Given the description of an element on the screen output the (x, y) to click on. 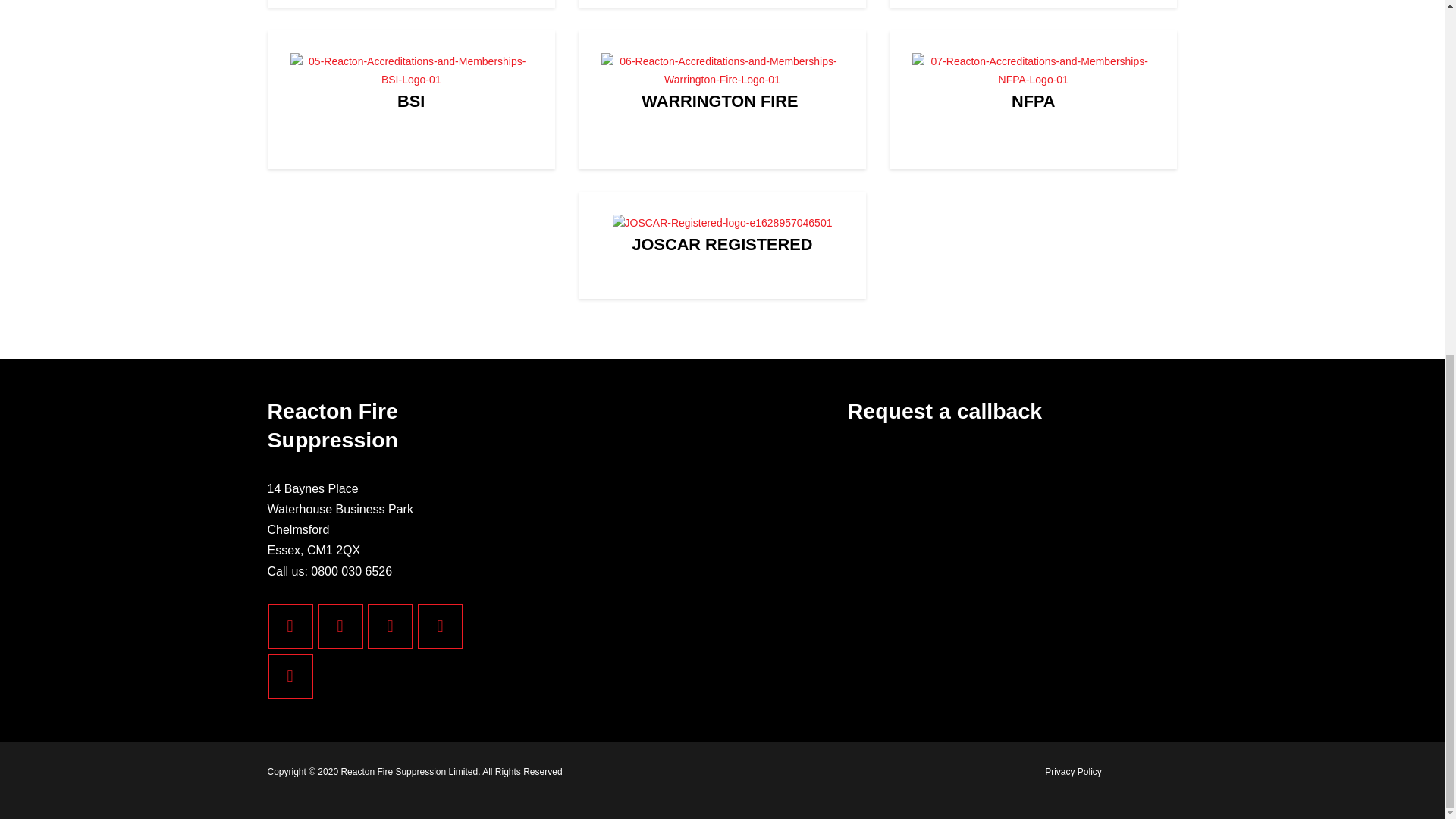
05-Reacton-Accreditations-and-Memberships-BSI-Logo-01 (410, 165)
07-Reacton-Accreditations-and-Memberships-NFPA-Logo-01 (1033, 165)
JOSCAR-Registered-logo-e1628957046501 (722, 504)
